Given the description of an element on the screen output the (x, y) to click on. 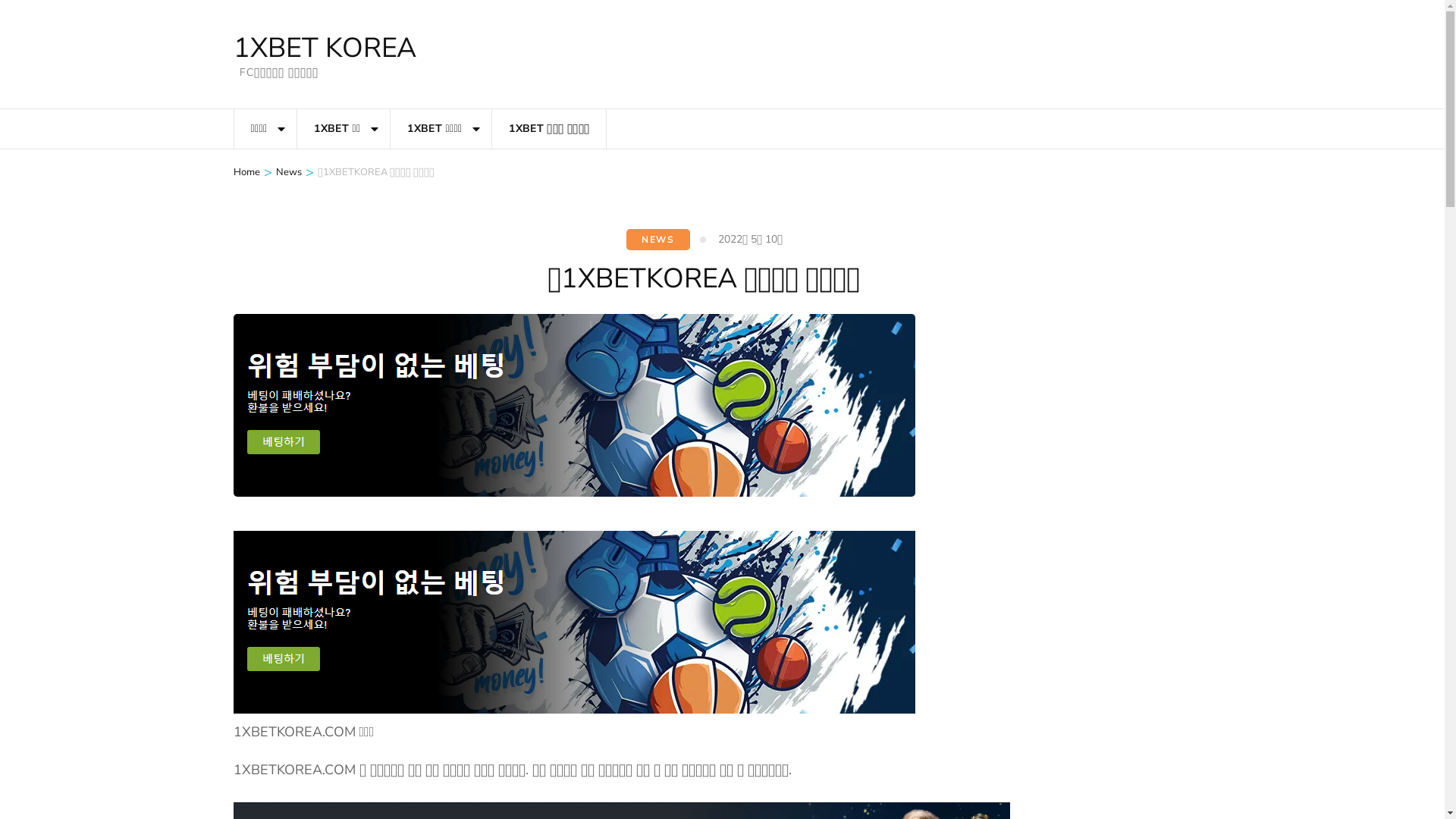
News Element type: text (288, 171)
1XBET KOREA Element type: text (324, 47)
Home Element type: text (246, 171)
NEWS Element type: text (658, 239)
